Given the description of an element on the screen output the (x, y) to click on. 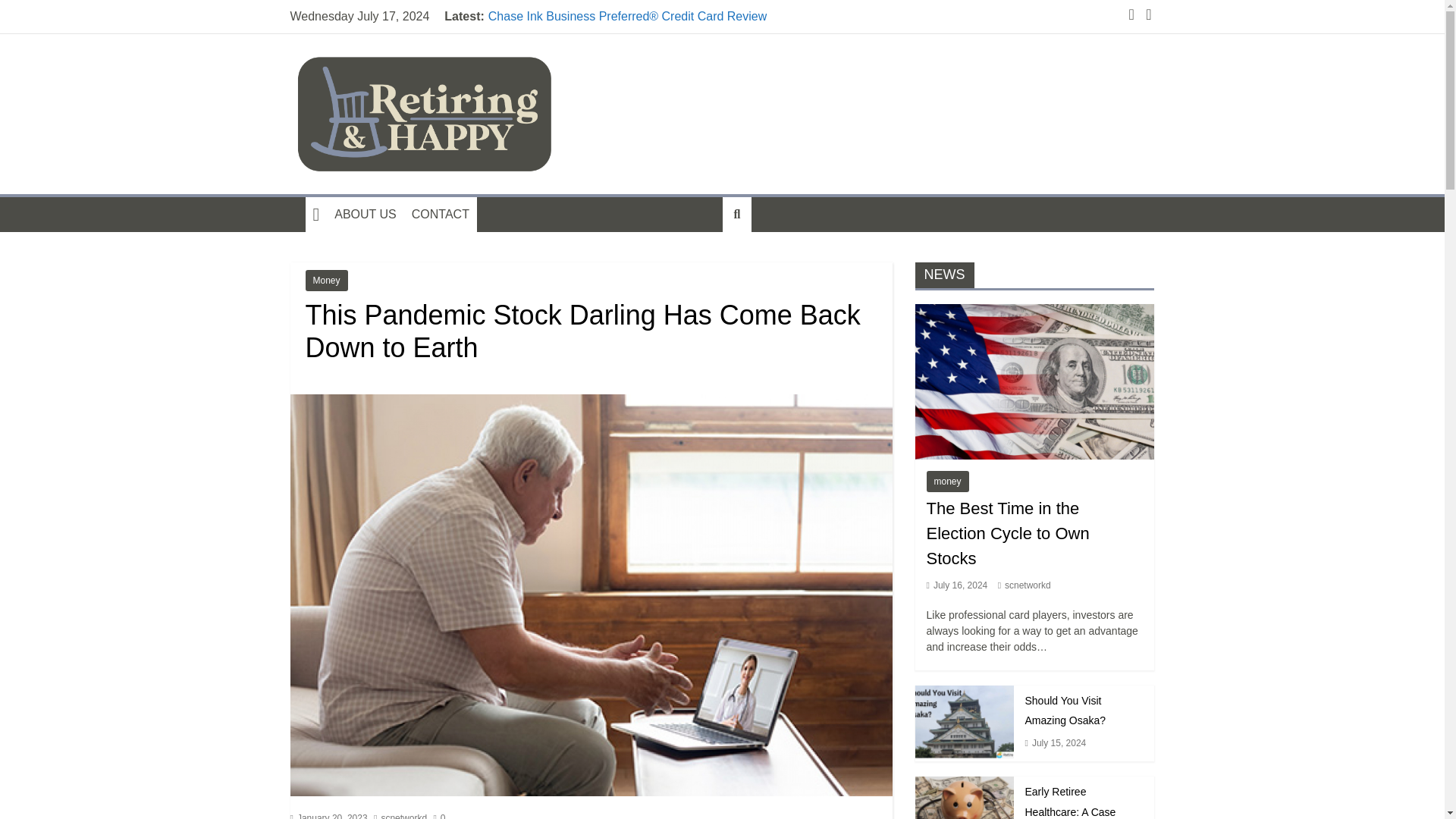
Should You Visit Amazing Osaka? (1065, 710)
July 16, 2024 (960, 584)
9:37 pm (957, 584)
ABOUT US (365, 214)
money (947, 481)
scnetworkd (1027, 584)
Money (325, 280)
The Best Time in the Election Cycle to Own Stocks (1034, 381)
The Best Time in the Election Cycle to Own Stocks (1007, 533)
CONTACT (440, 214)
scnetworkd (403, 816)
11:05 pm (327, 816)
Should You Visit Amazing Osaka? (963, 721)
July 15, 2024 (1059, 742)
Early Retiree Healthcare: A Case Study (963, 797)
